Given the description of an element on the screen output the (x, y) to click on. 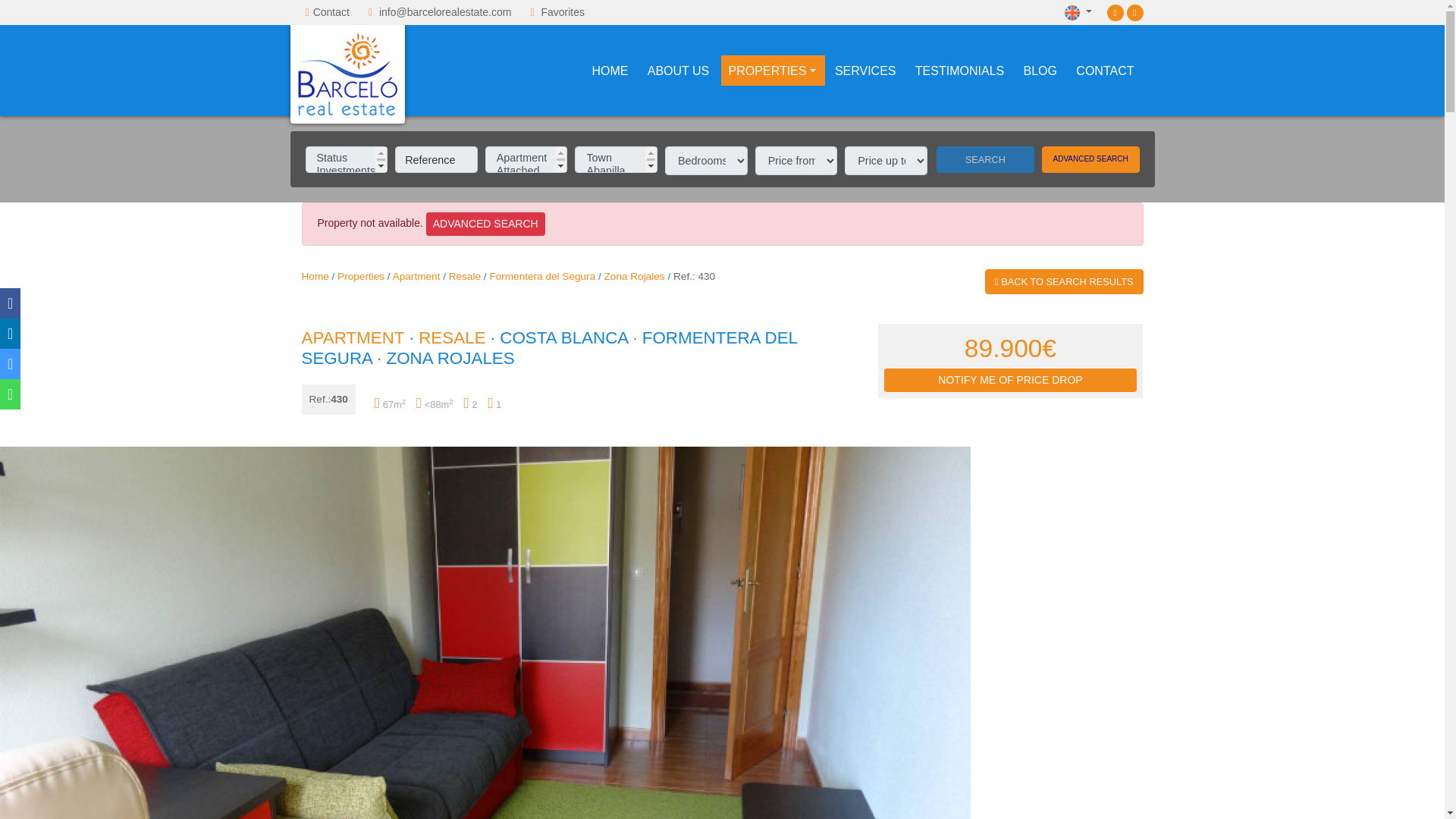
HOME (609, 70)
Facebook (1115, 11)
Contact (331, 11)
SERVICES (865, 70)
Instagram (1134, 11)
BLOG (1039, 70)
ABOUT US (679, 70)
TESTIMONIALS (959, 70)
PROPERTIES (772, 70)
ADVANCED SEARCH (1091, 159)
ADVANCED SEARCH (485, 223)
CONTACT (1104, 70)
SEARCH (984, 159)
Favorites (562, 11)
